Given the description of an element on the screen output the (x, y) to click on. 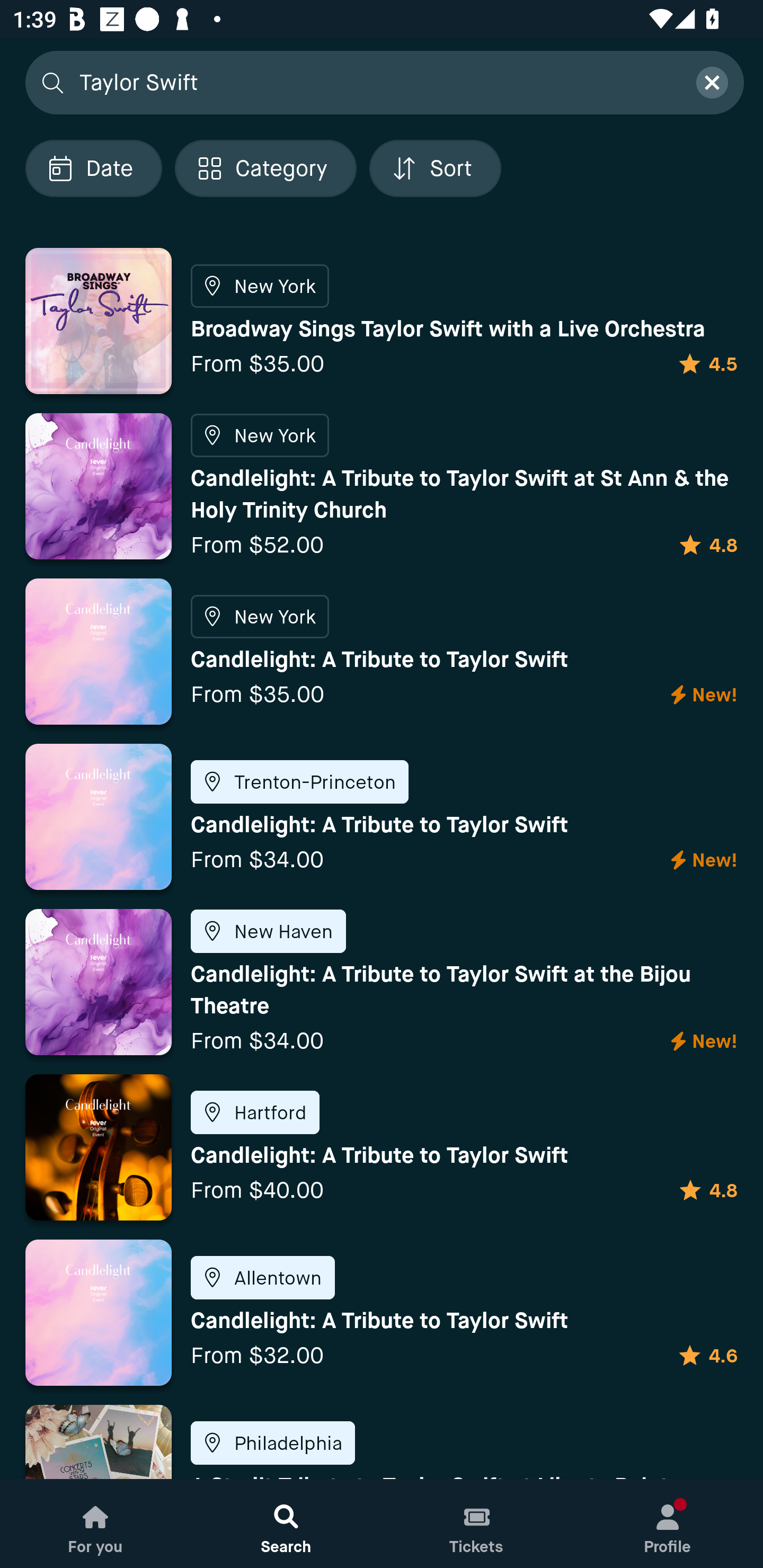
Taylor Swift (376, 81)
Localized description Date (93, 168)
Localized description Category (265, 168)
Localized description Sort (435, 168)
For you (95, 1523)
Tickets (476, 1523)
Profile, New notification Profile (667, 1523)
